Given the description of an element on the screen output the (x, y) to click on. 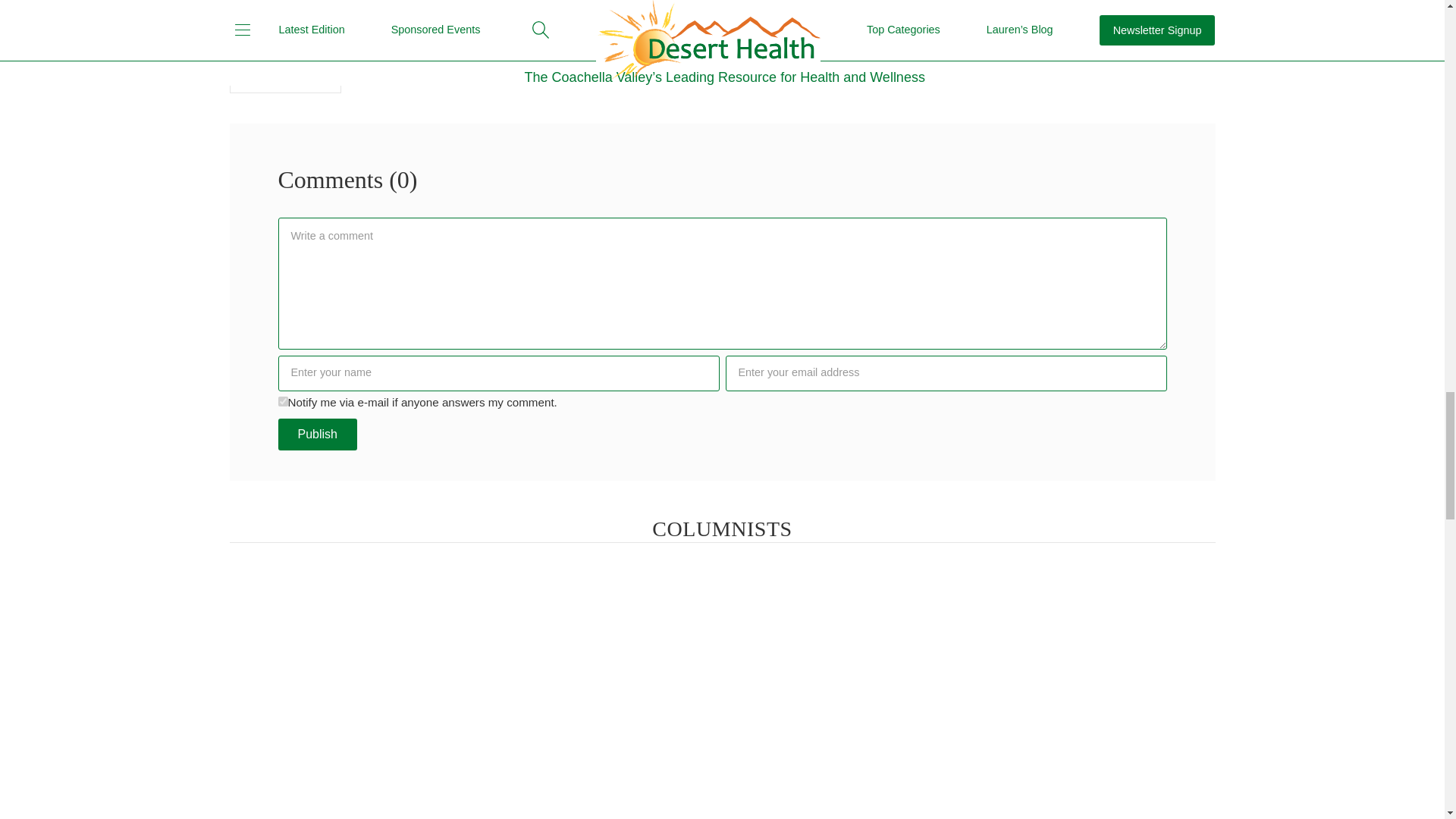
Publish (317, 434)
on (282, 401)
